Given the description of an element on the screen output the (x, y) to click on. 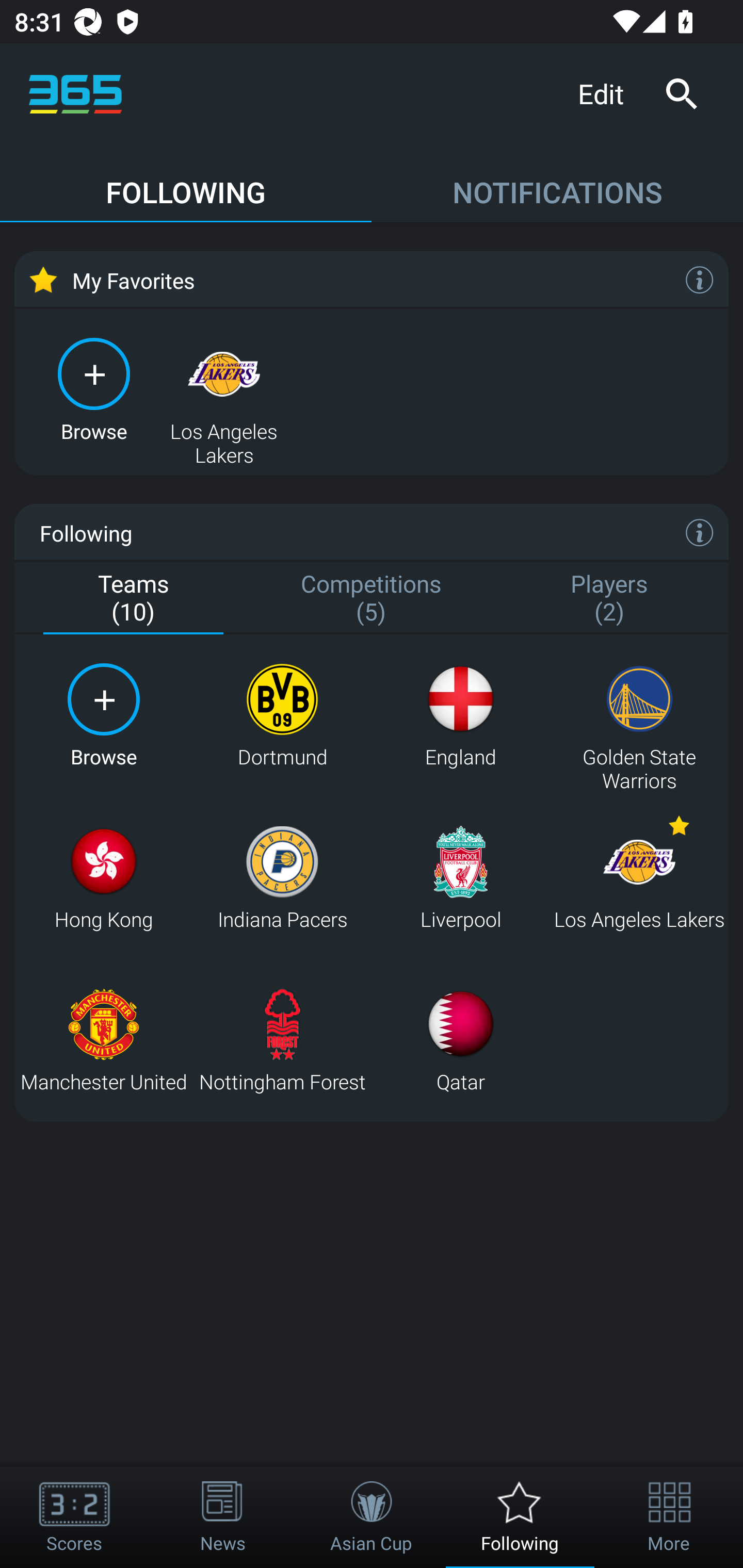
Search (681, 93)
Edit (608, 93)
FOLLOWING (185, 183)
NOTIFICATIONS (557, 183)
Browse (93, 387)
Los Angeles Lakers (224, 387)
Competitions
(5) (371, 598)
Players
(2) (609, 598)
Browse (103, 715)
Dortmund (282, 715)
England (460, 715)
Golden State Warriors (638, 715)
Hong Kong (103, 877)
Indiana Pacers (282, 877)
Liverpool (460, 877)
Los Angeles Lakers (638, 877)
Manchester United (103, 1040)
Nottingham Forest (282, 1040)
Qatar (460, 1040)
Scores (74, 1517)
News (222, 1517)
Asian Cup (371, 1517)
More (668, 1517)
